Given the description of an element on the screen output the (x, y) to click on. 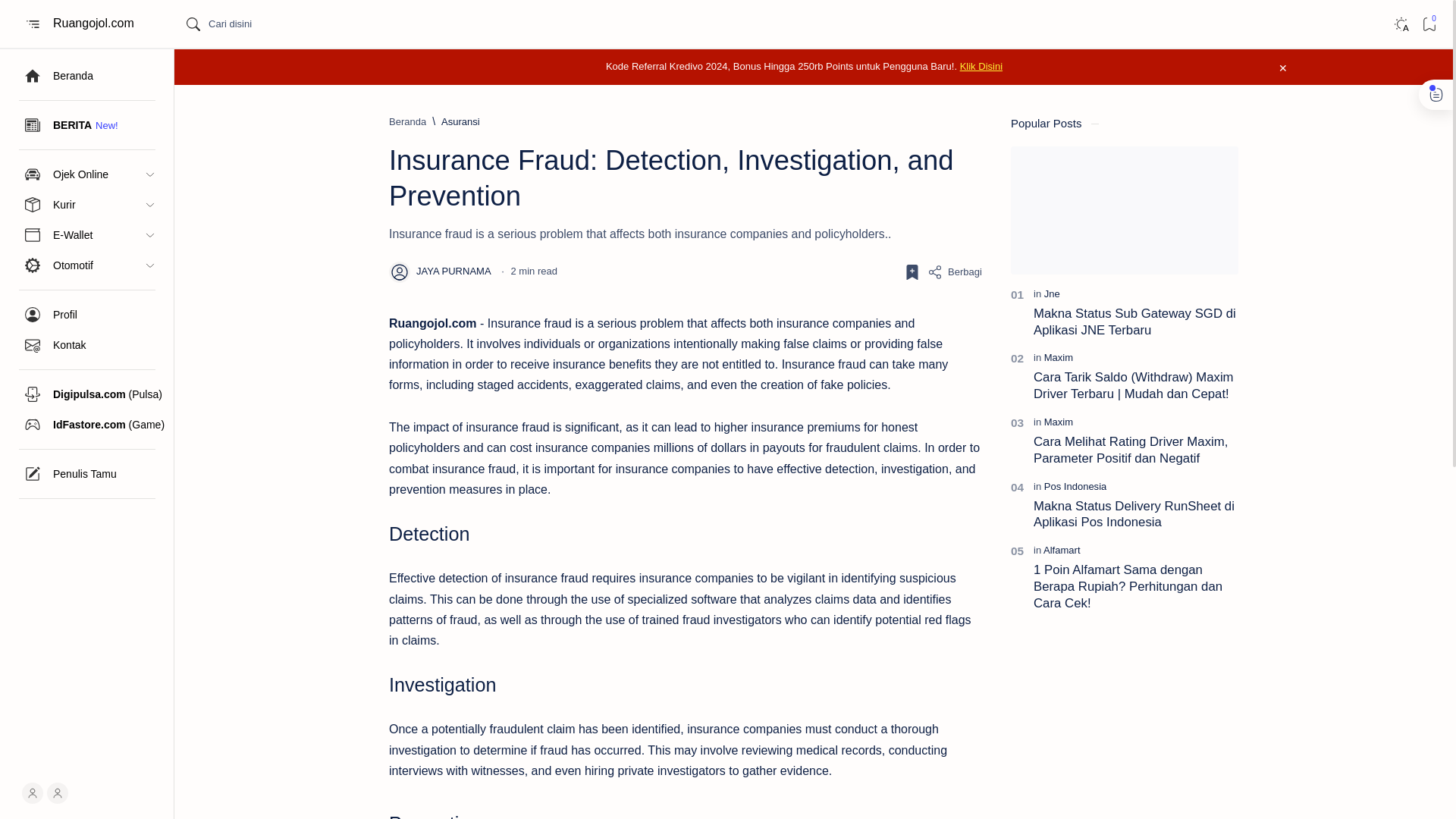
Beranda (86, 75)
Add to bookmark (912, 272)
Penulis Tamu (86, 473)
Asuransi (460, 121)
Kontak (86, 345)
Beranda (407, 121)
BERITA (86, 124)
Klik Disini (981, 66)
Profil (86, 314)
Ruangojol.com (94, 23)
